Given the description of an element on the screen output the (x, y) to click on. 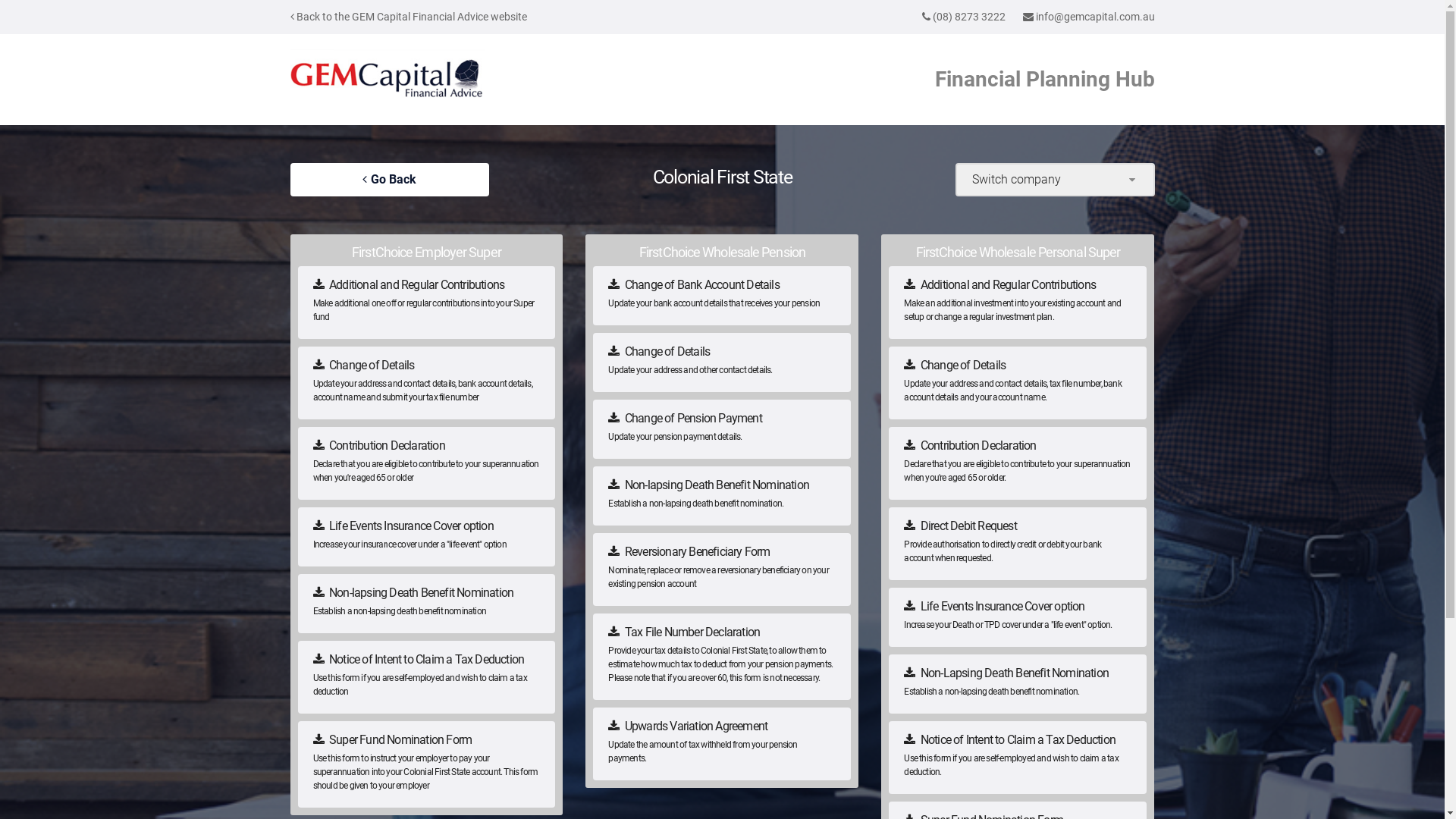
info@gemcapital.com.au Element type: text (1094, 16)
Back to the GEM Capital Financial Advice website Element type: text (407, 16)
Go Back Element type: text (389, 179)
(08) 8273 3222 Element type: text (968, 16)
